Given the description of an element on the screen output the (x, y) to click on. 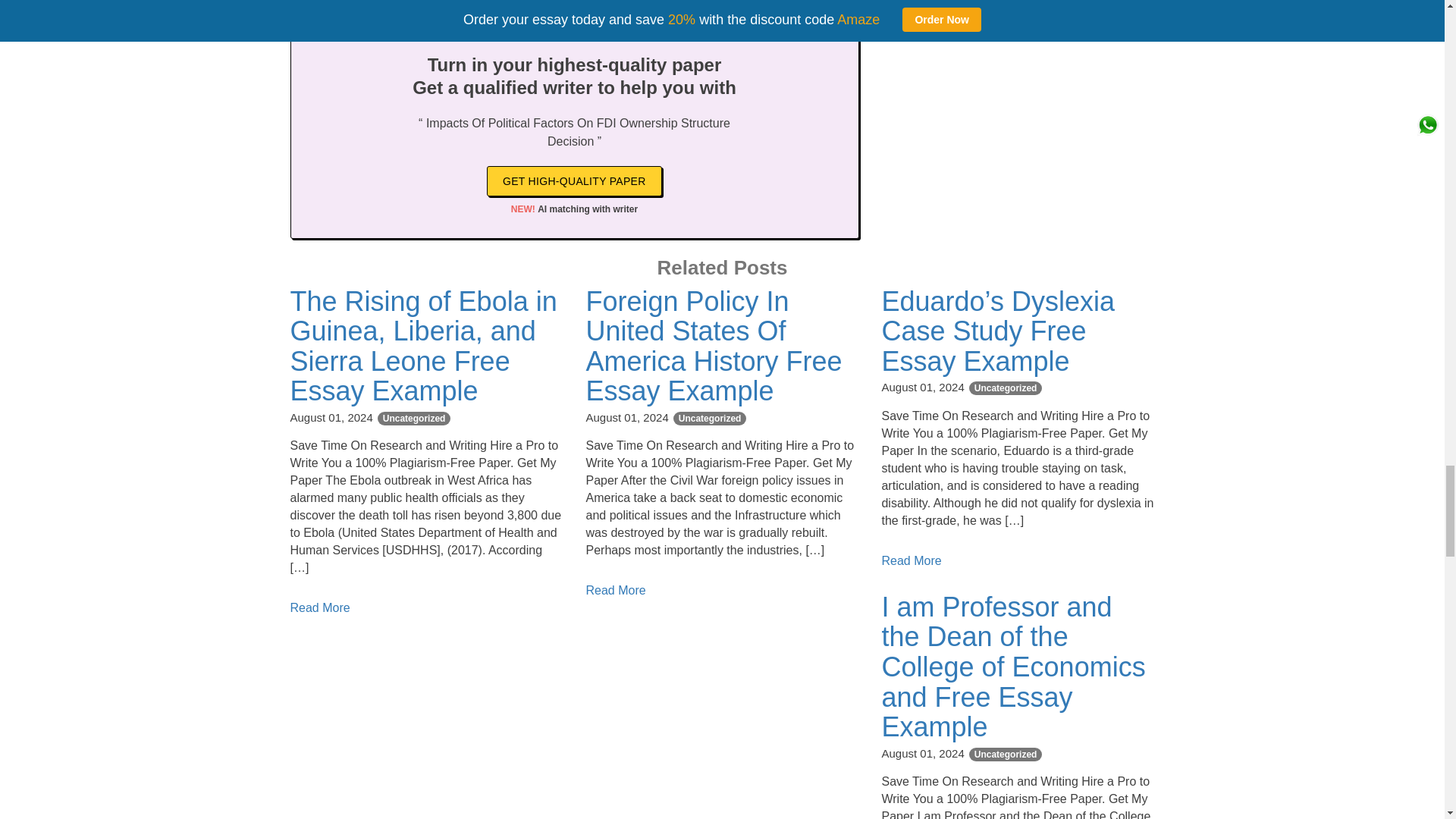
Read More (319, 607)
Read More (615, 590)
Uncategorized (709, 418)
Uncategorized (1005, 754)
Read More (910, 560)
Uncategorized (414, 418)
GET HIGH-QUALITY PAPER (574, 181)
Uncategorized (1005, 387)
